Given the description of an element on the screen output the (x, y) to click on. 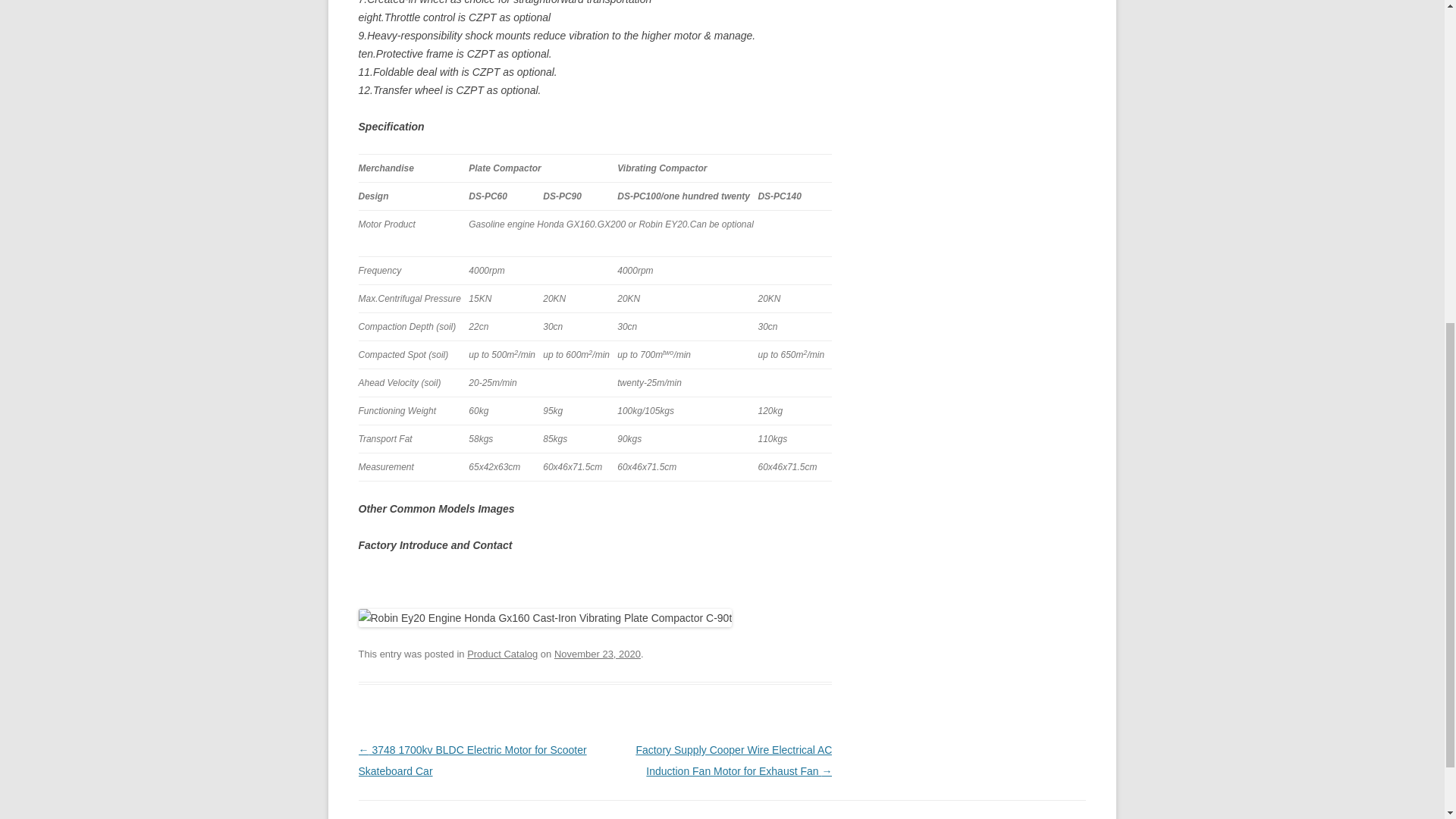
November 23, 2020 (597, 654)
Product Catalog (502, 654)
1:35 am (597, 654)
